Given the description of an element on the screen output the (x, y) to click on. 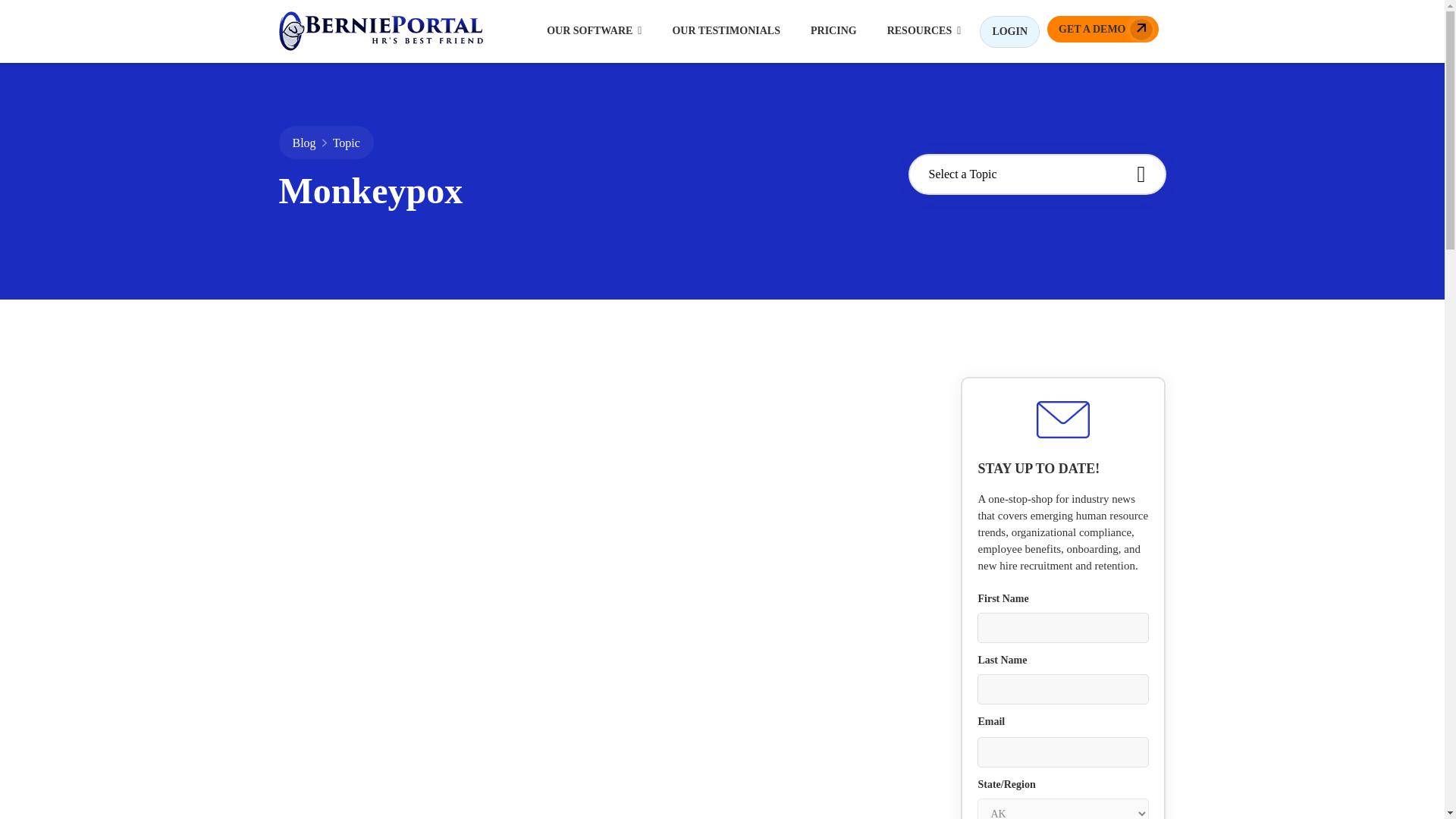
PRICING (833, 30)
OUR SOFTWARE (593, 30)
Blog (303, 142)
OUR TESTIMONIALS (726, 30)
RESOURCES (924, 30)
LOGIN (1009, 31)
GET A DEMO (1101, 28)
